Given the description of an element on the screen output the (x, y) to click on. 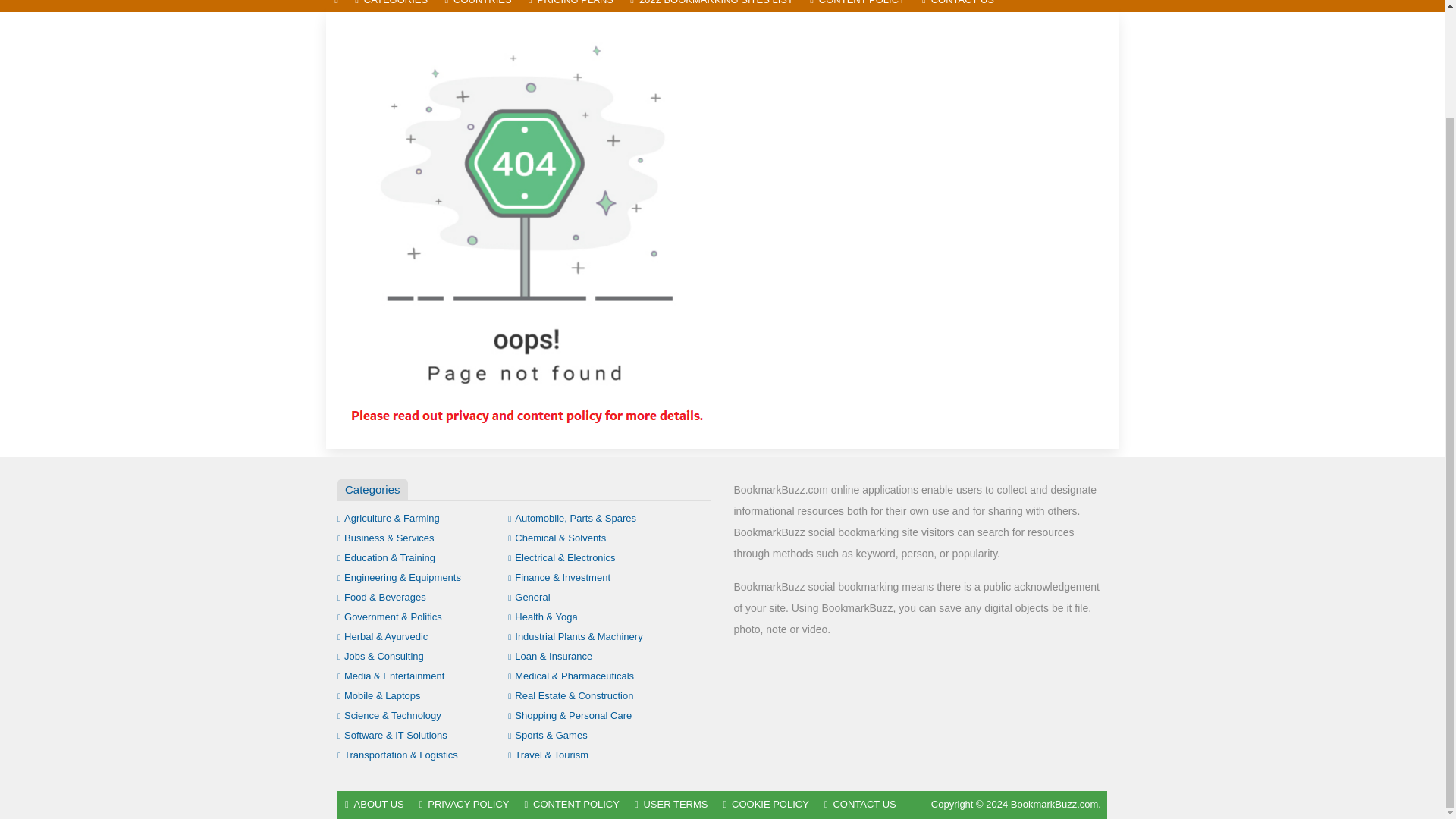
CATEGORIES (390, 6)
2022 BOOKMARKING SITES LIST (711, 6)
CONTACT US (958, 6)
PRICING PLANS (570, 6)
General (529, 596)
COUNTRIES (477, 6)
CONTENT POLICY (858, 6)
HOME (336, 6)
